Given the description of an element on the screen output the (x, y) to click on. 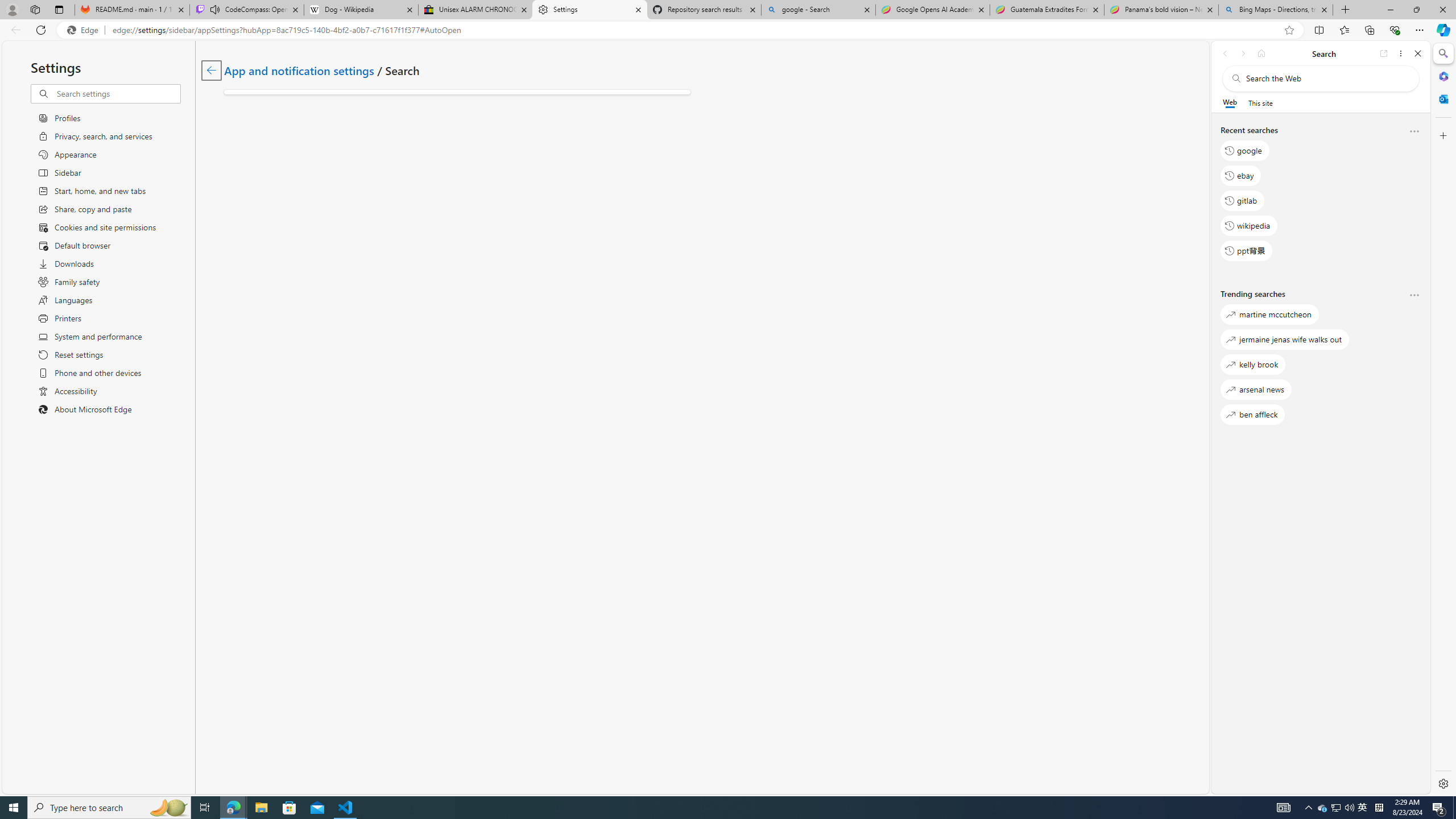
Google Opens AI Academy for Startups - Nearshore Americas (932, 9)
Mute tab (215, 8)
kelly brook (1252, 364)
wikipedia (1249, 225)
Dog - Wikipedia (360, 9)
